Given the description of an element on the screen output the (x, y) to click on. 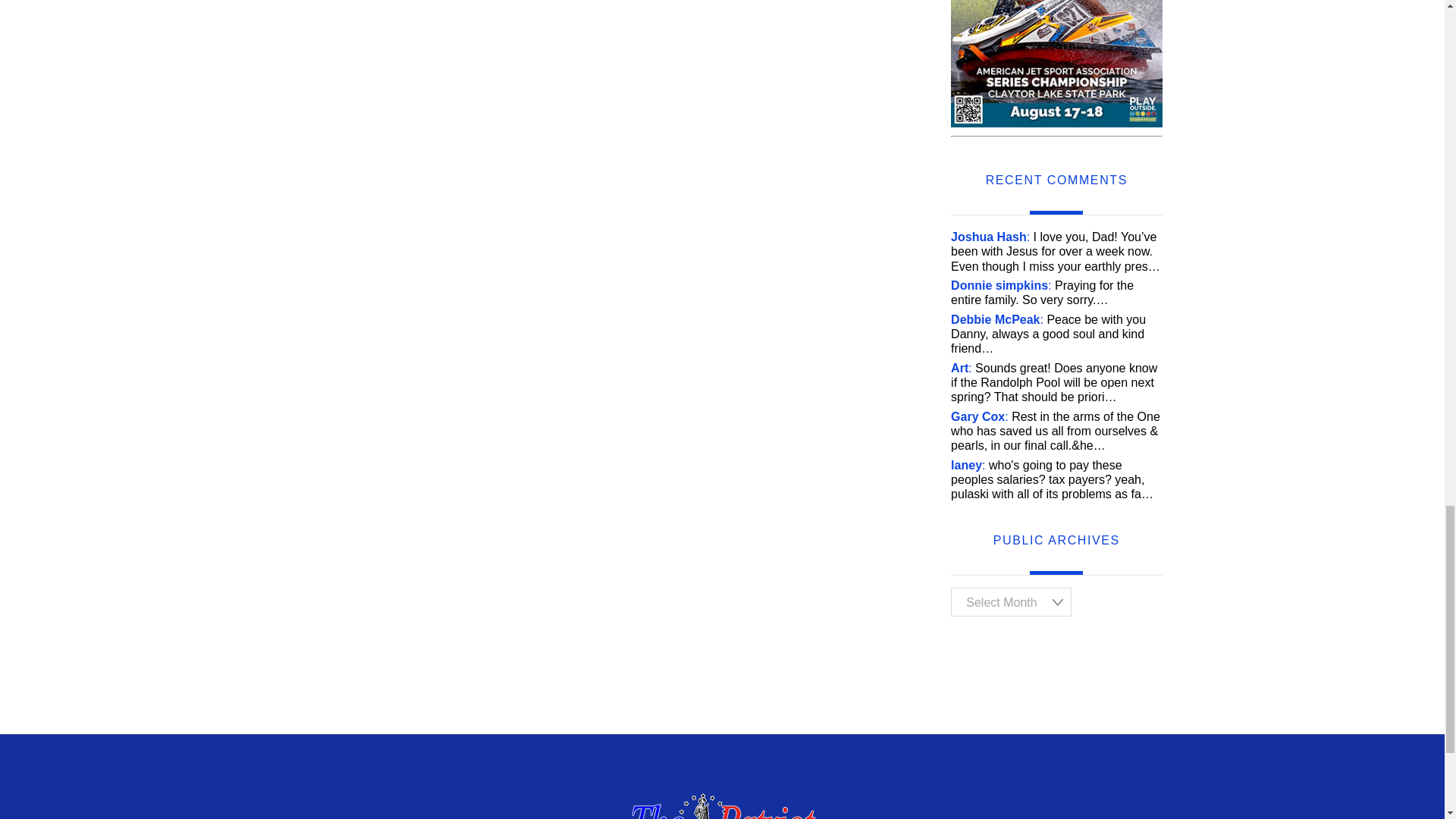
laney: (967, 464)
Debbie McPeak: (996, 318)
Joshua Hash: (989, 236)
Donnie simpkins: (1000, 285)
Gary Cox: (979, 416)
Art: (961, 367)
